Given the description of an element on the screen output the (x, y) to click on. 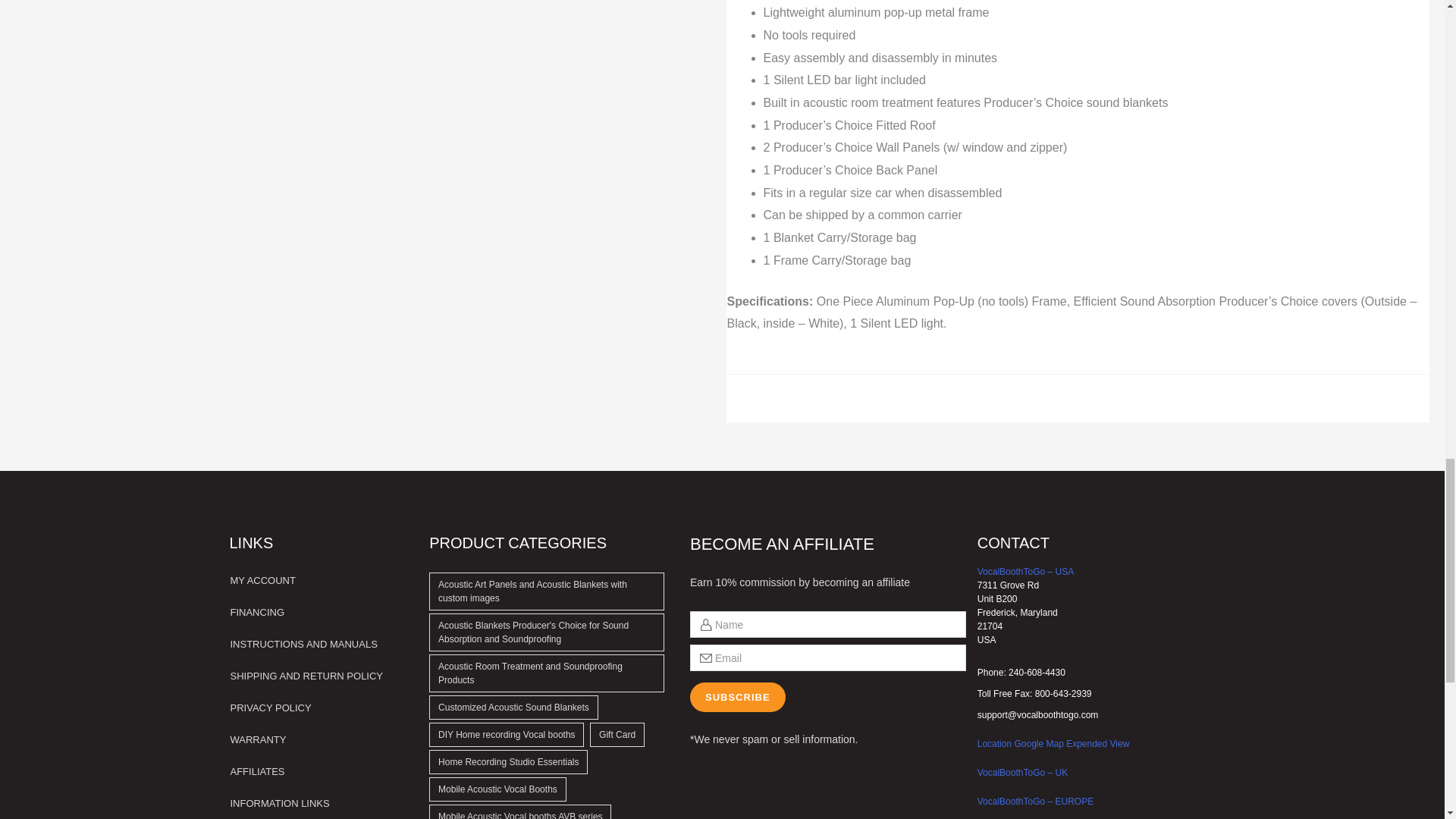
Subscribe (738, 696)
